Given the description of an element on the screen output the (x, y) to click on. 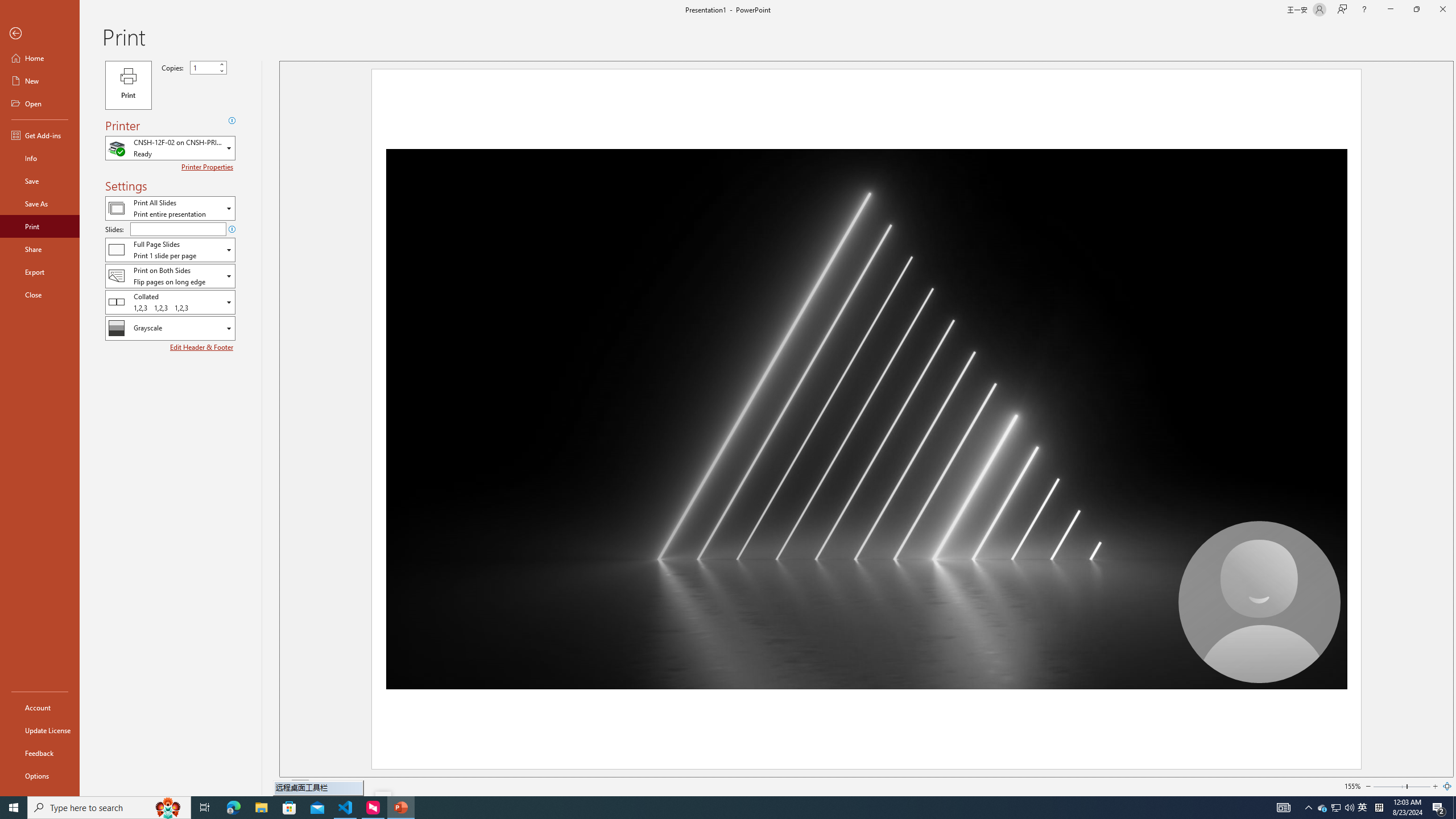
Copies (203, 67)
Slides (178, 228)
